Given the description of an element on the screen output the (x, y) to click on. 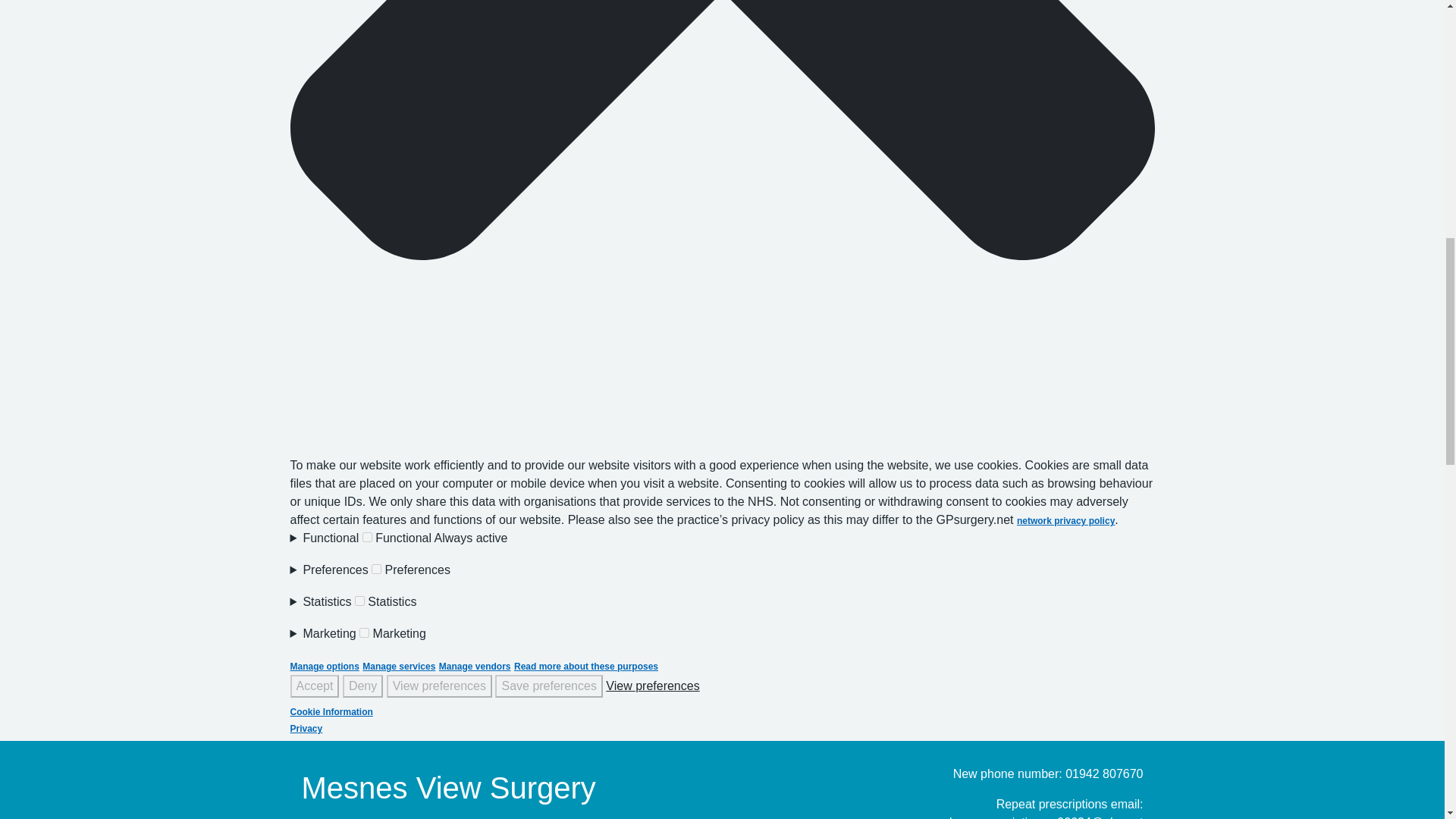
1 (360, 601)
1 (367, 537)
Privacy (305, 728)
Deny (362, 685)
View preferences (651, 685)
1 (364, 633)
1 (376, 569)
Mesnes View Surgery (448, 787)
network privacy policy (1065, 520)
Manage services (398, 665)
Read more about these purposes (585, 665)
Cookie Information (721, 712)
View preferences (439, 685)
Accept (314, 685)
Manage options (323, 665)
